Given the description of an element on the screen output the (x, y) to click on. 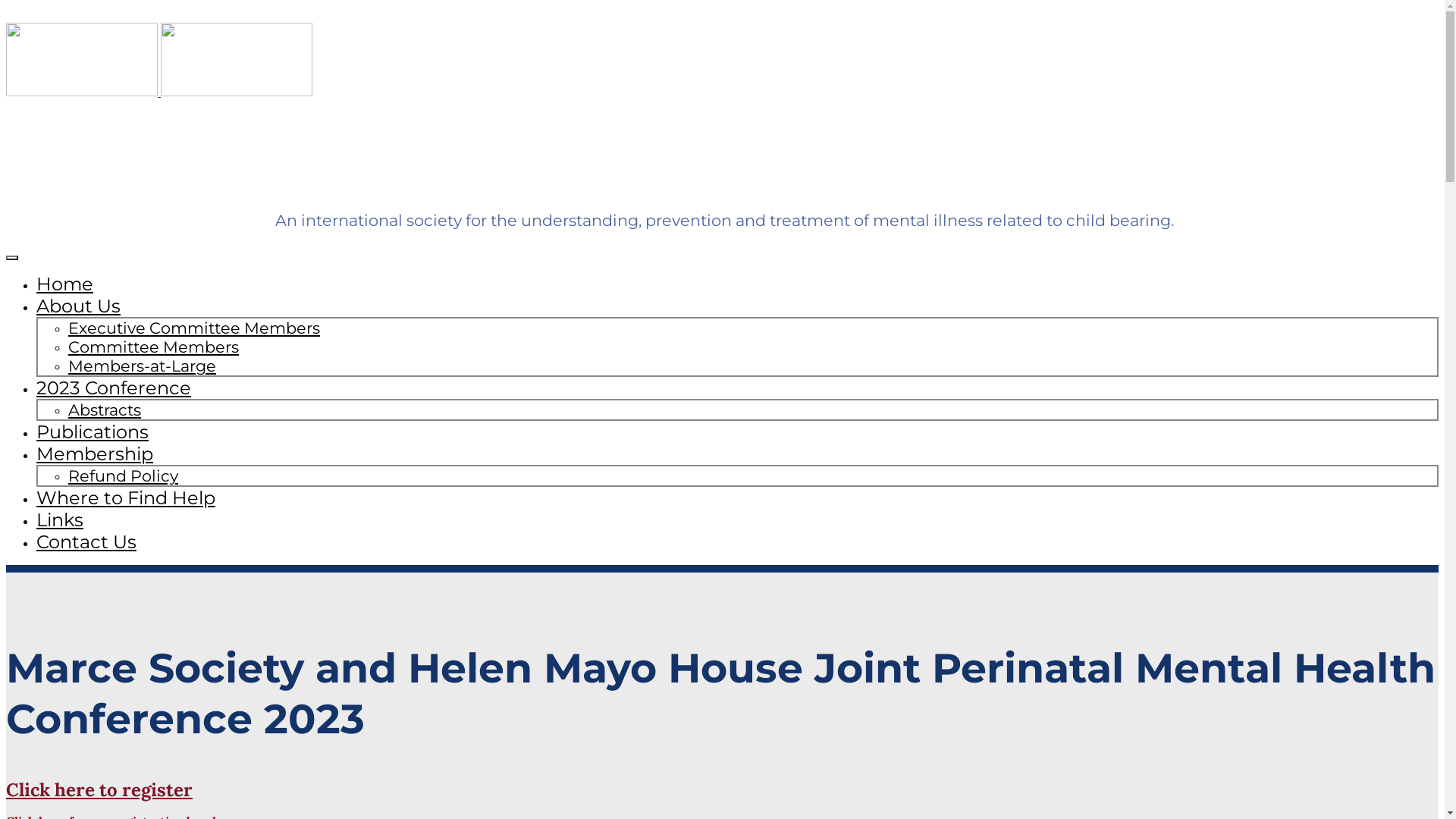
Executive Committee Members Element type: text (194, 327)
Click here to register Element type: text (99, 789)
Abstracts Element type: text (104, 409)
Home Element type: text (64, 283)
Where to Find Help Element type: text (125, 497)
Committee Members Element type: text (153, 346)
Links Element type: text (59, 519)
About Us Element type: text (78, 305)
Membership Element type: text (94, 453)
Refund Policy Element type: text (123, 475)
Members-at-Large Element type: text (142, 365)
Contact Us Element type: text (86, 541)
Publications Element type: text (92, 431)
2023 Conference Element type: text (113, 387)
